Given the description of an element on the screen output the (x, y) to click on. 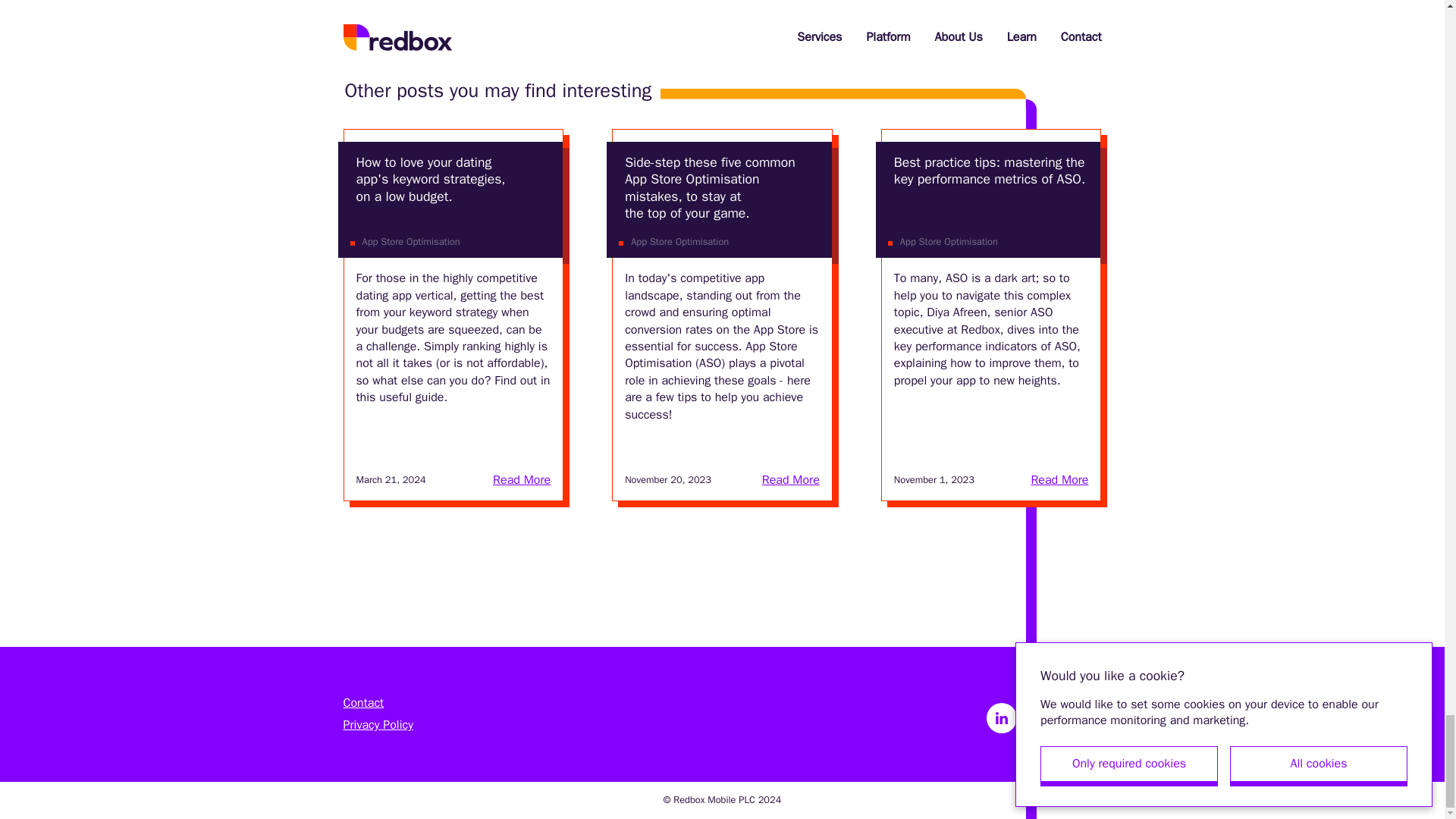
Linkedin logo (1000, 717)
Privacy Policy (377, 725)
Linkedin logo (1000, 717)
YouTube logo (1086, 717)
Contact (377, 703)
